Given the description of an element on the screen output the (x, y) to click on. 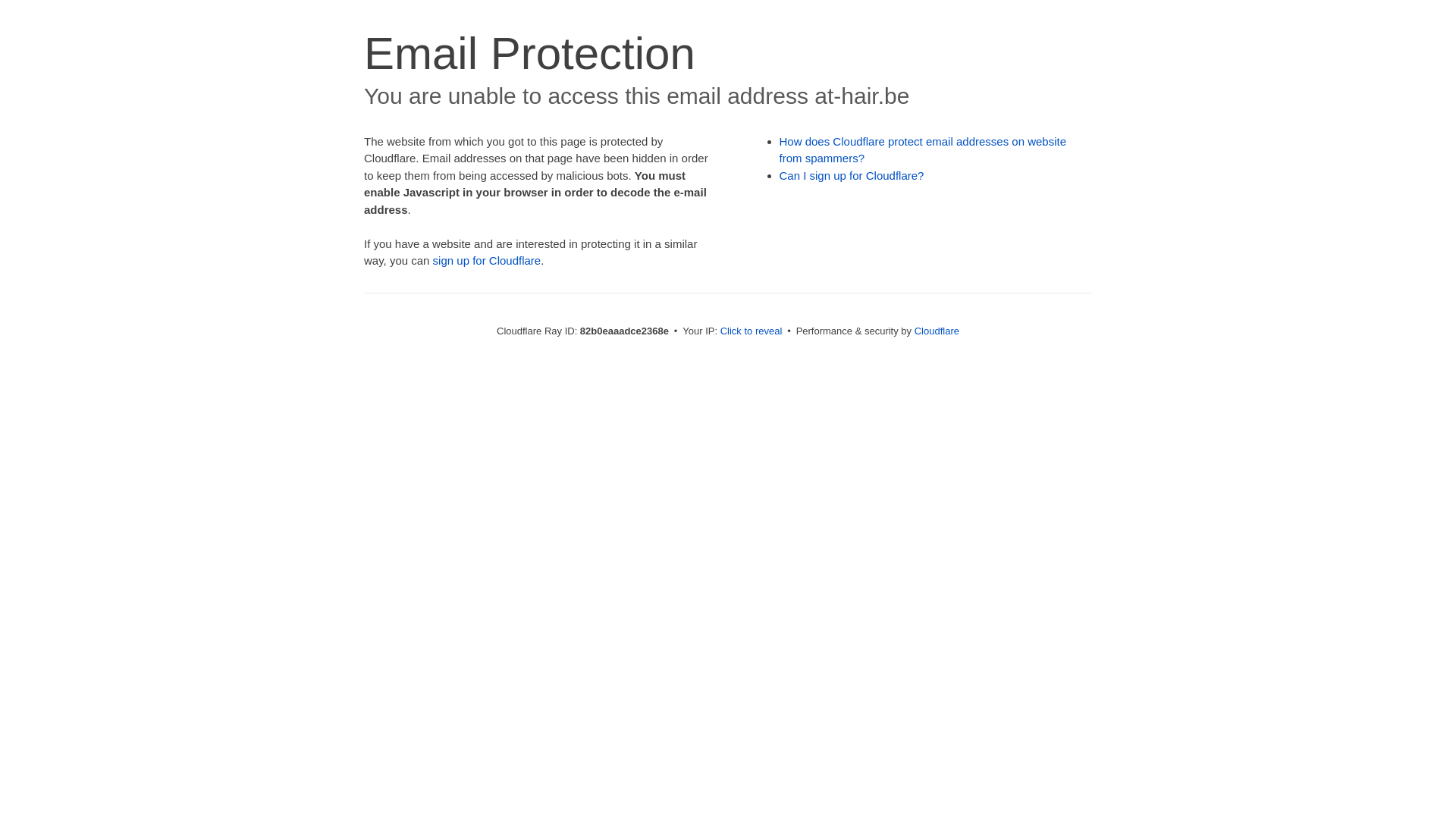
sign up for Cloudflare Element type: text (487, 260)
Click to reveal Element type: text (751, 330)
Cloudflare Element type: text (936, 330)
Can I sign up for Cloudflare? Element type: text (851, 175)
